Given the description of an element on the screen output the (x, y) to click on. 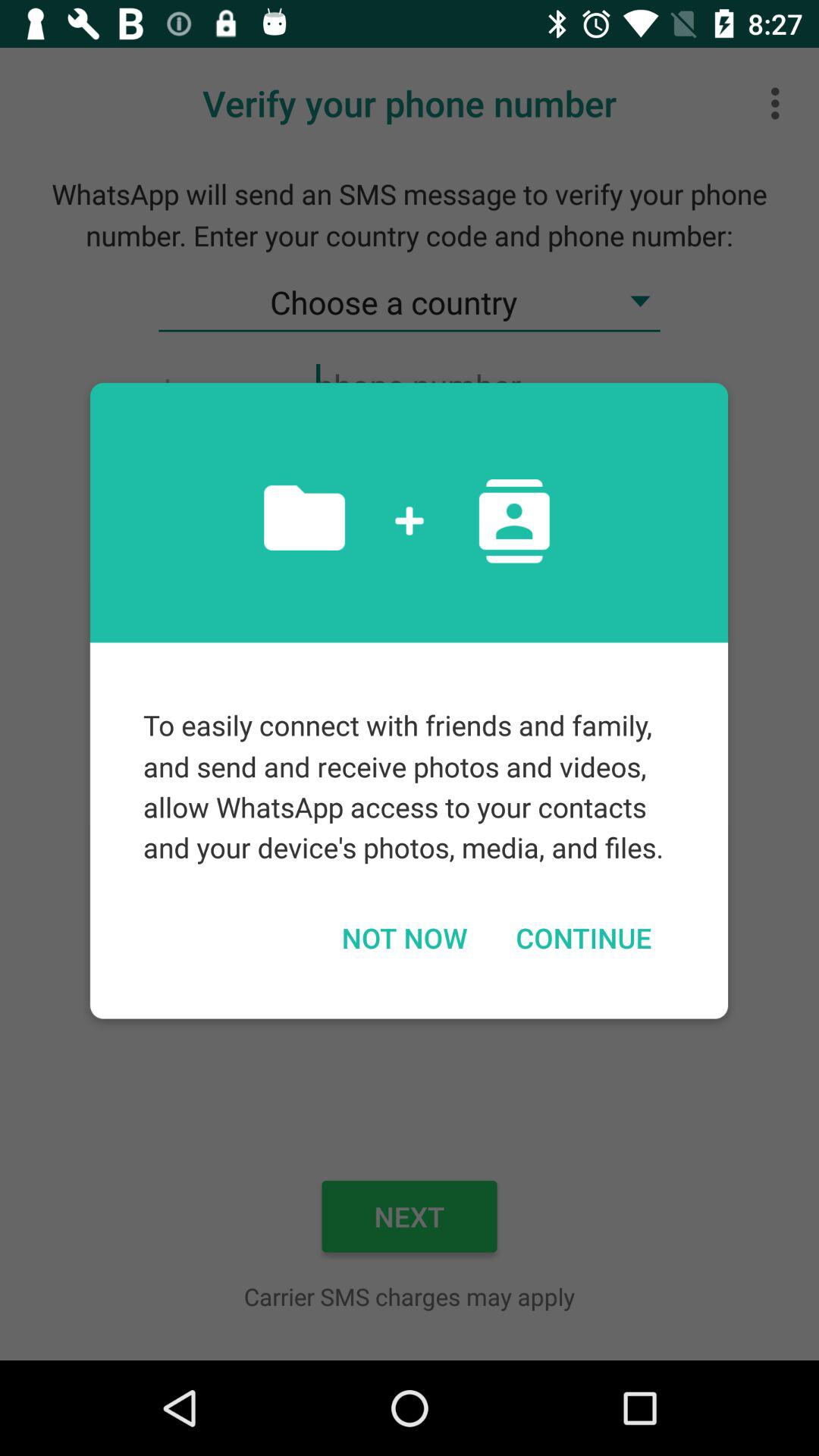
press item next to continue item (403, 937)
